Given the description of an element on the screen output the (x, y) to click on. 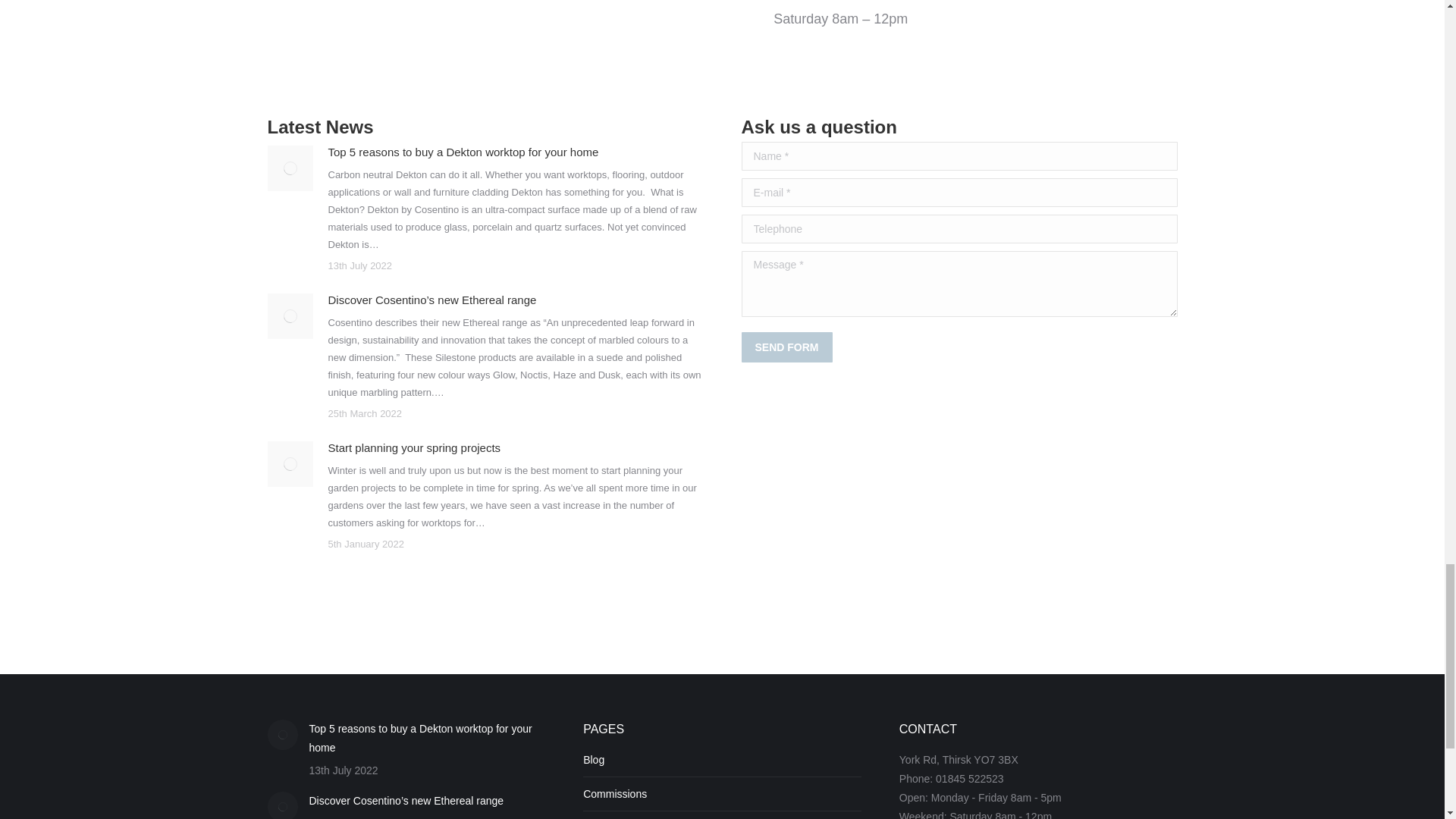
SEND FORM (786, 347)
Top 5 reasons to buy a Dekton worktop for your home (462, 151)
submit (872, 348)
Start planning your spring projects (413, 447)
Top 5 reasons to buy a Dekton worktop for your home (427, 738)
submit (872, 348)
Blog (593, 760)
